Given the description of an element on the screen output the (x, y) to click on. 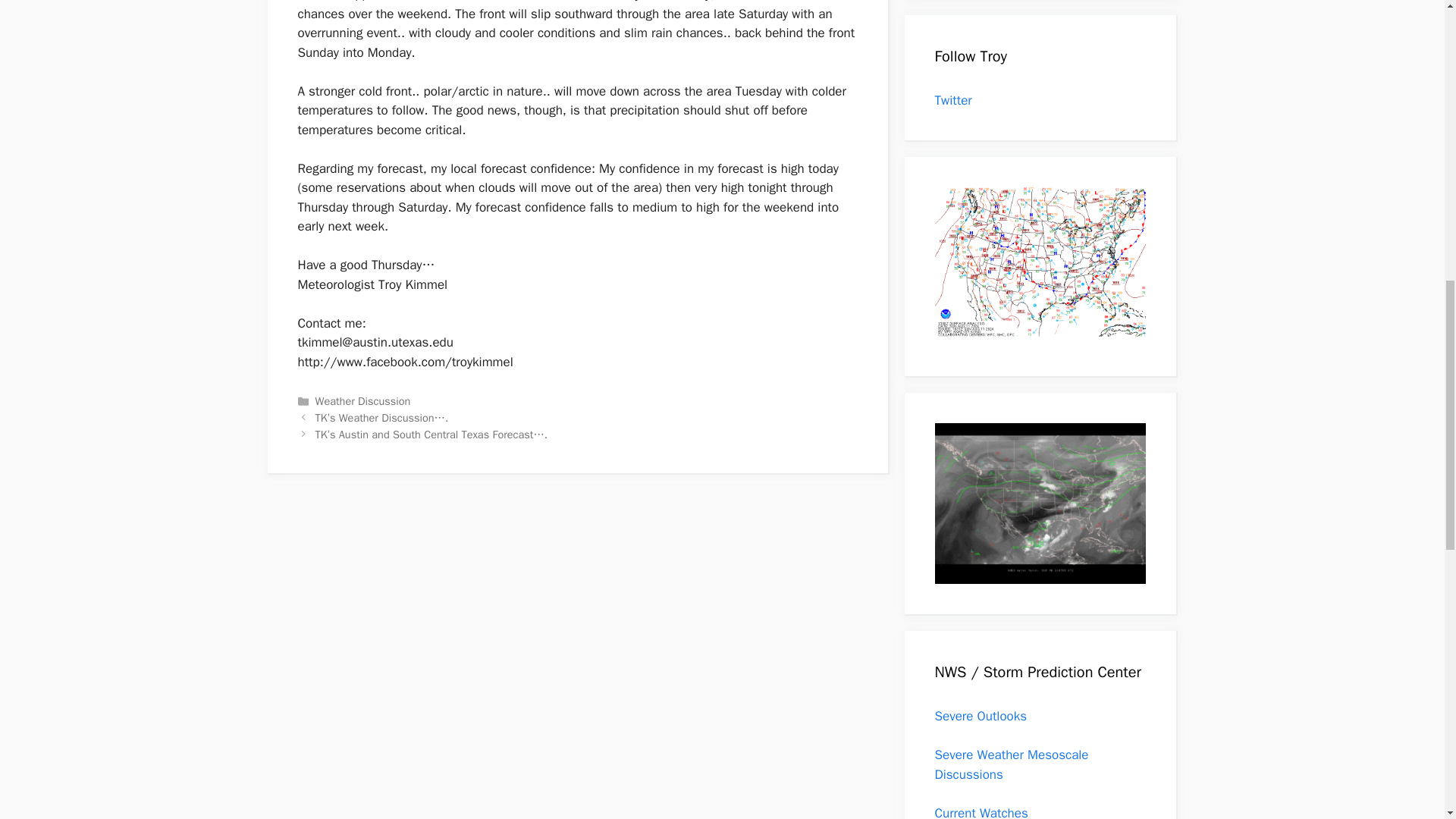
Storm Prediction Center Severe Outlooks (980, 715)
Severe Outlooks (980, 715)
Current Watches (980, 812)
Weather Discussion (362, 400)
Mesoscale Discussions (1010, 764)
Severe Weather Mesoscale Discussions (1010, 764)
Current Watches (980, 812)
Twitter (952, 100)
